Given the description of an element on the screen output the (x, y) to click on. 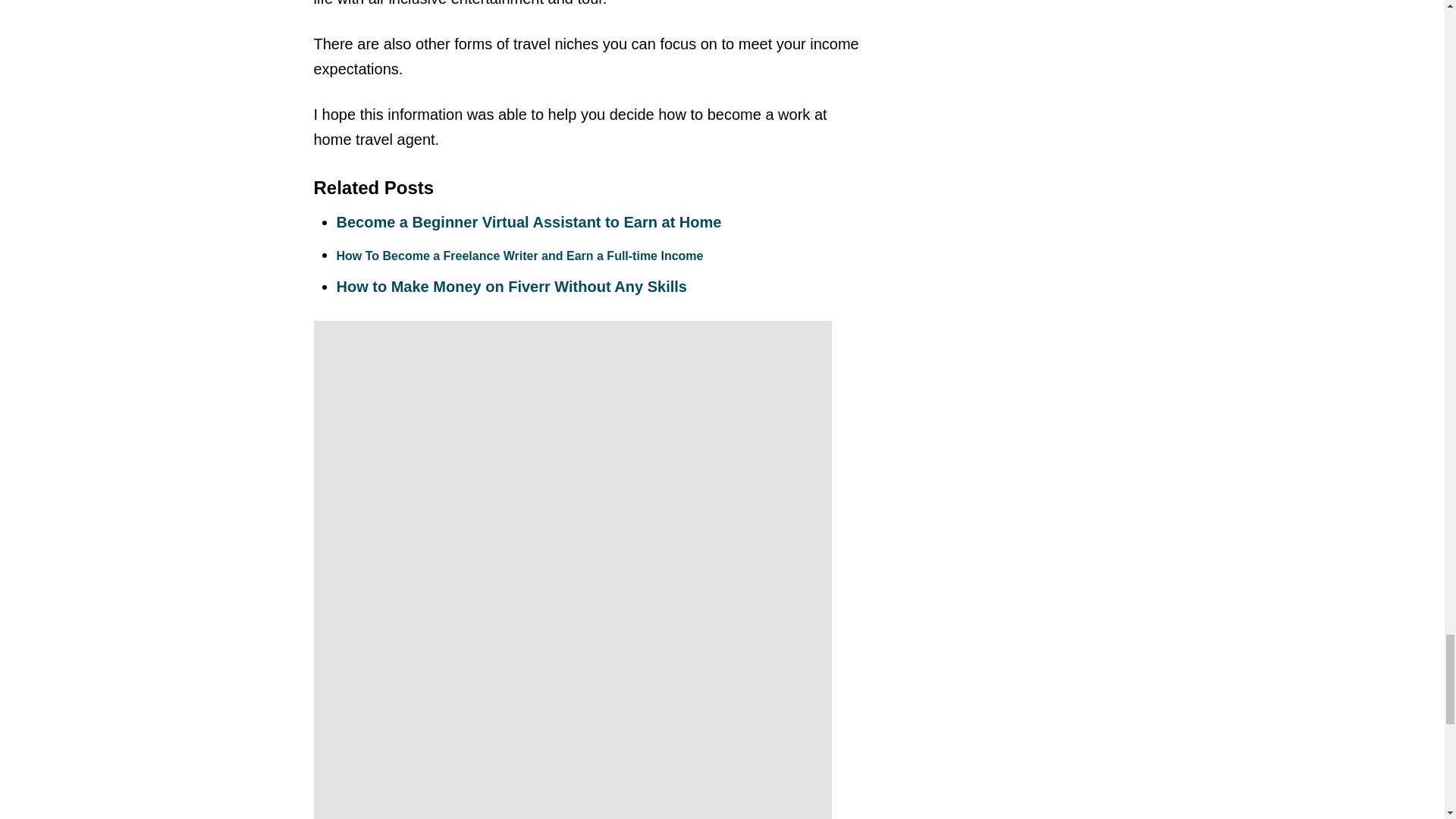
How to Make Money on Fiverr Without Any Skills (511, 286)
How To Become a Freelance Writer and Earn a Full-time Income (519, 255)
Become a Beginner Virtual Assistant to Earn at Home (529, 221)
